Given the description of an element on the screen output the (x, y) to click on. 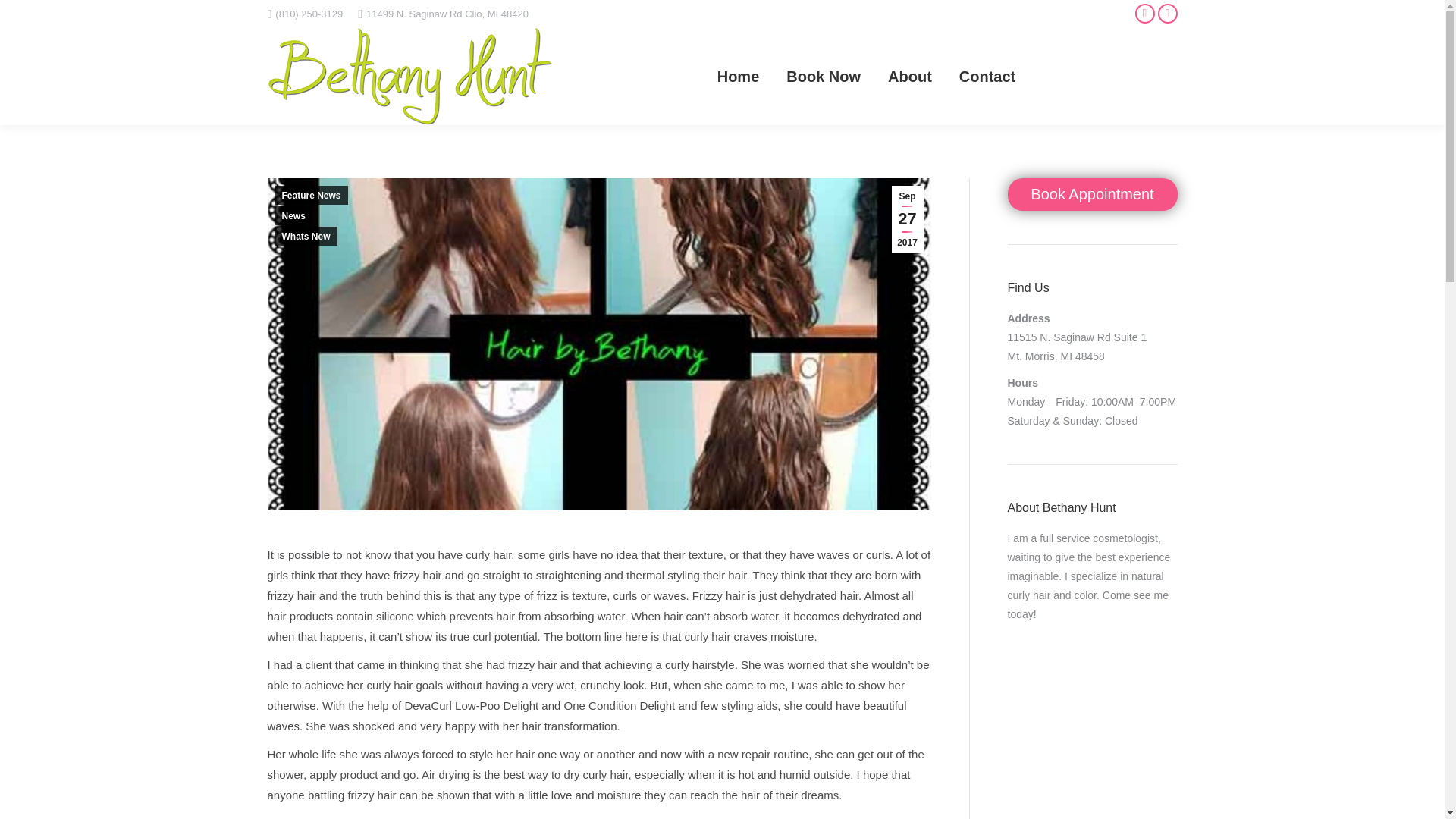
Whats New (305, 235)
Facebook (1144, 13)
Instagram (1166, 13)
Feature News (311, 194)
Facebook (1144, 13)
Book Now (823, 75)
News (293, 215)
Instagram (1166, 13)
